Given the description of an element on the screen output the (x, y) to click on. 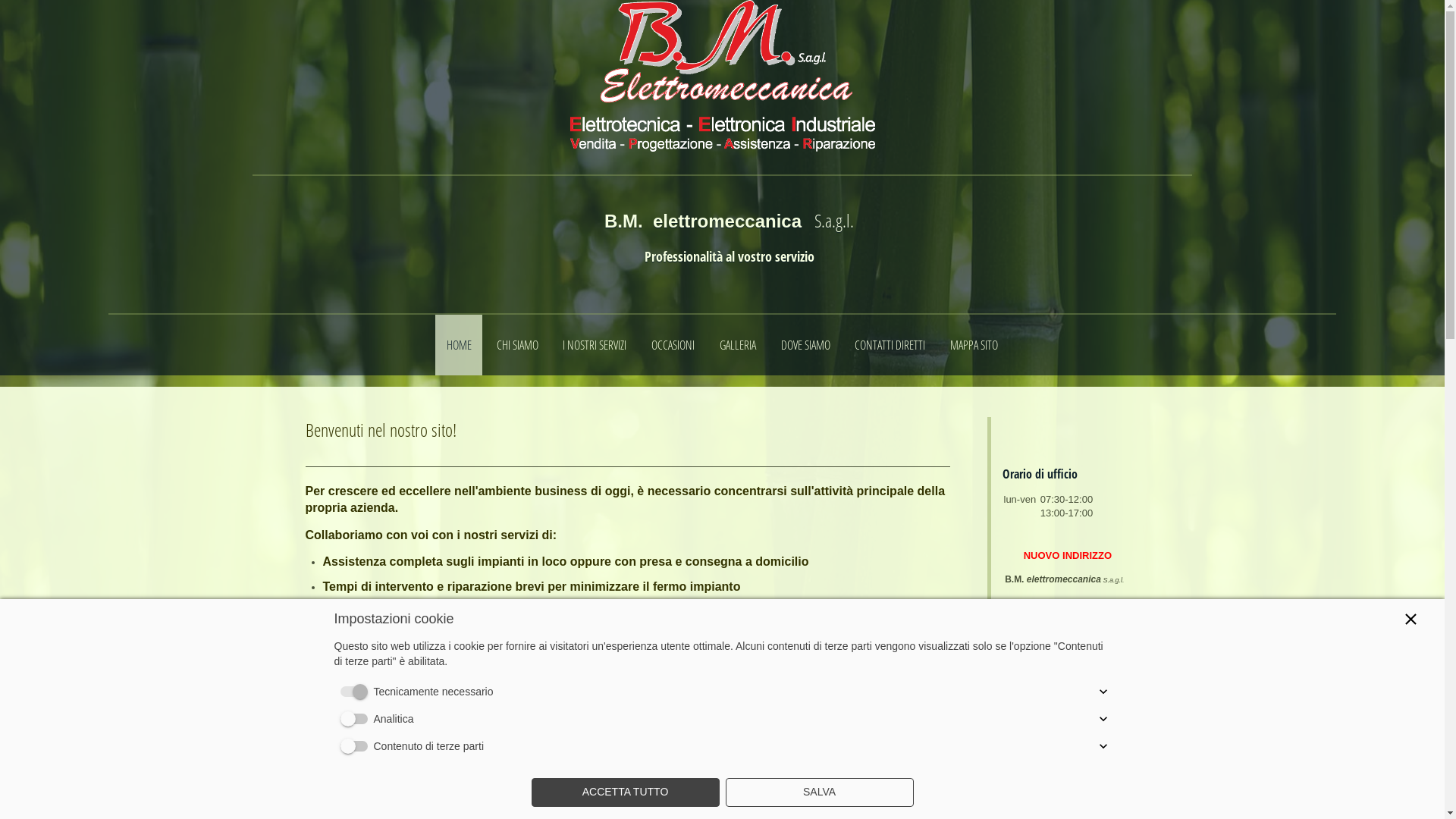
MAPPA SITO Element type: text (974, 344)
HOME Element type: text (458, 344)
CHI SIAMO Element type: text (517, 344)
OCCASIONI Element type: text (673, 344)
CONTATTI DIRETTI Element type: text (890, 344)
SALVA Element type: text (818, 792)
info@bm-elettromeccanica.ch Element type: text (1057, 721)
info@bm-elettromeccanica.com Element type: text (1060, 745)
I NOSTRI SERVIZI Element type: text (594, 344)
GALLERIA Element type: text (737, 344)
DOVE SIAMO Element type: text (804, 344)
ACCETTA TUTTO Element type: text (624, 792)
info@bm-elettromeccanica.eu Element type: text (1057, 769)
